Given the description of an element on the screen output the (x, y) to click on. 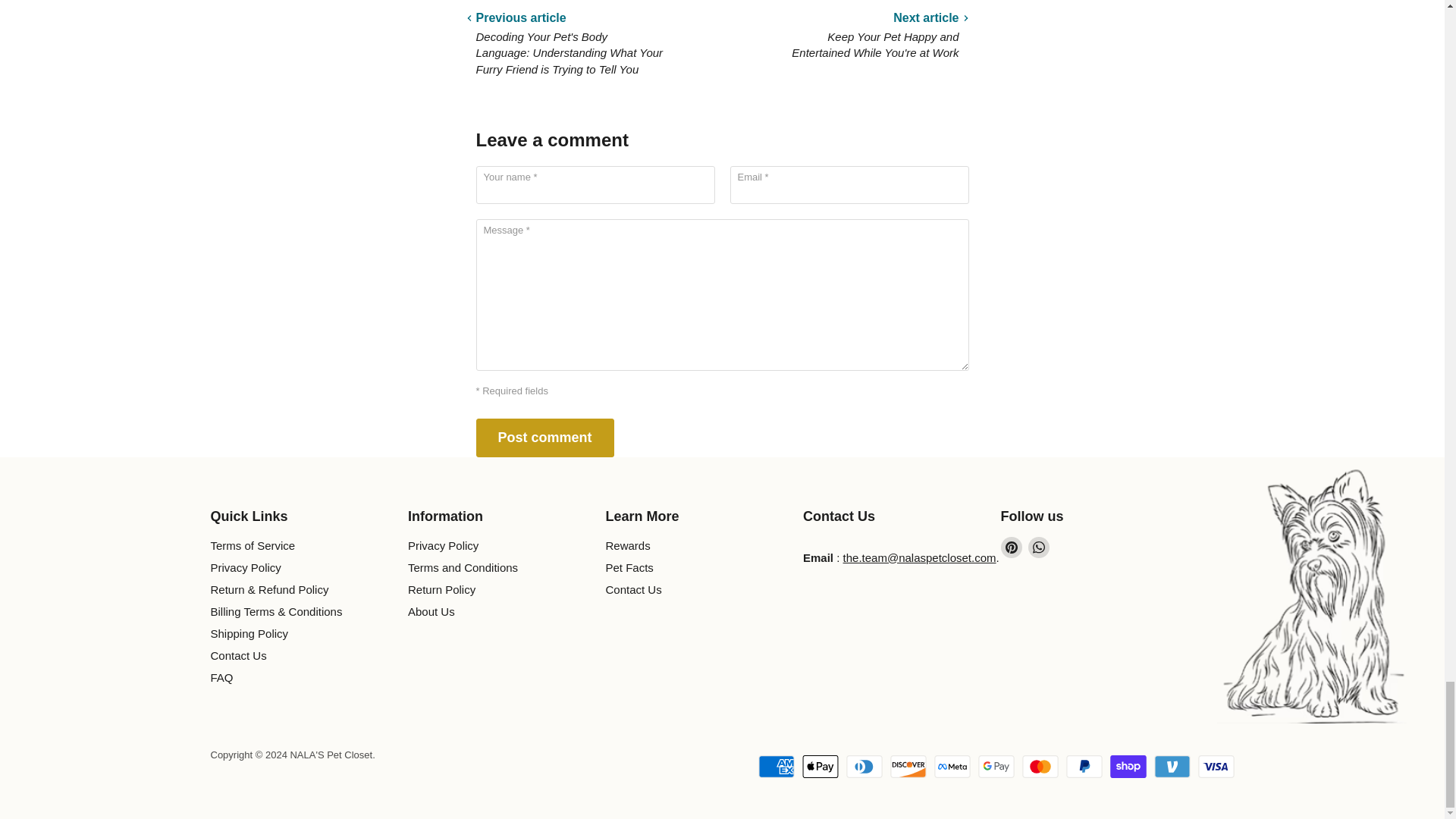
Mastercard (1040, 765)
Apple Pay (820, 765)
Pinterest (1011, 546)
Google Pay (996, 765)
PayPal (1083, 765)
WhatsApp (1038, 546)
American Express (776, 765)
Discover (907, 765)
Meta Pay (952, 765)
Diners Club (863, 765)
